Given the description of an element on the screen output the (x, y) to click on. 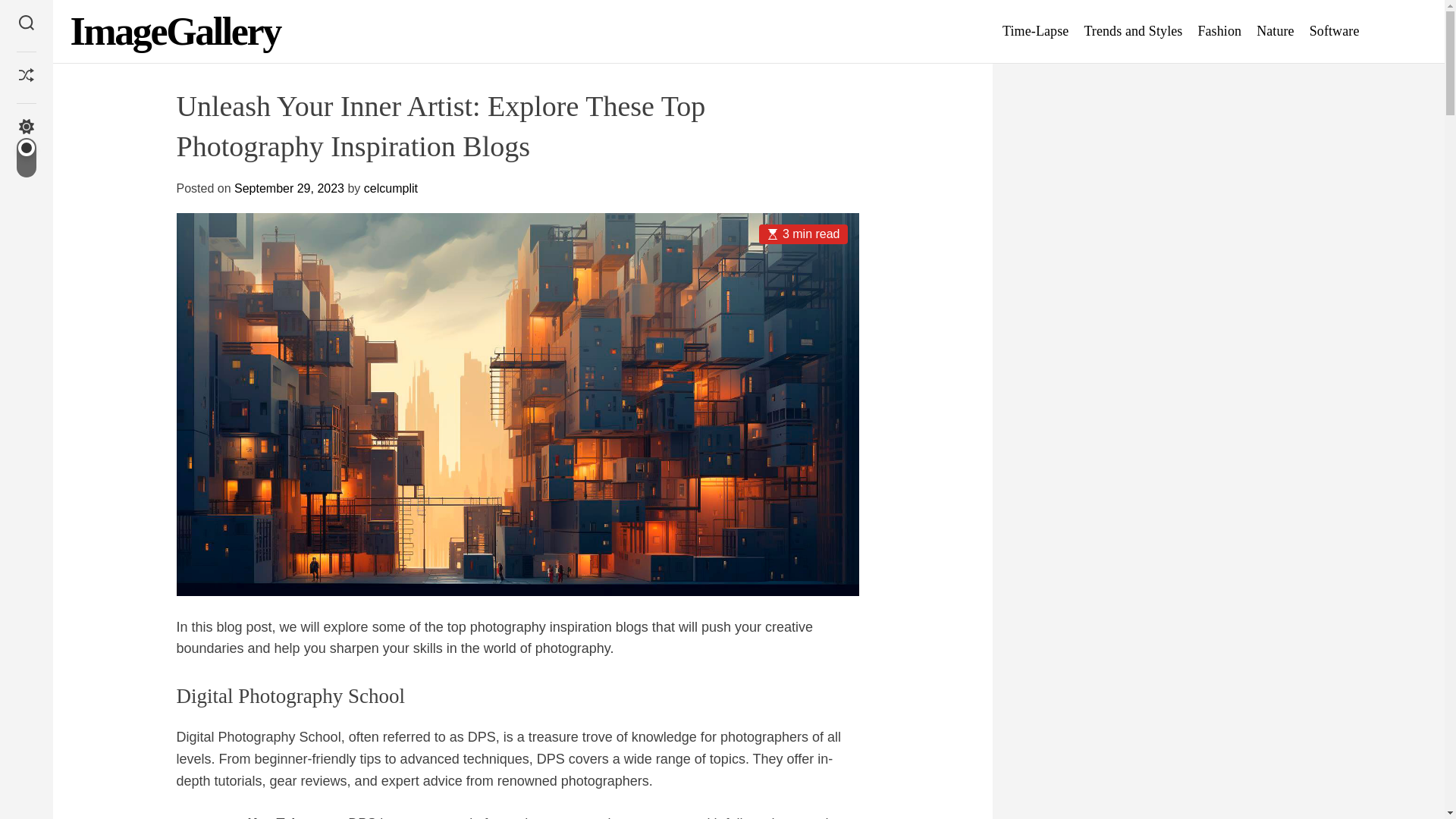
September 29, 2023 (288, 187)
Fashion (1218, 31)
Time-Lapse (1035, 31)
ImageGallery (174, 31)
Trends and Styles (1132, 31)
Shuffle (26, 76)
celcumplit (390, 187)
Search (26, 24)
Nature (1275, 31)
Software (1333, 31)
